Given the description of an element on the screen output the (x, y) to click on. 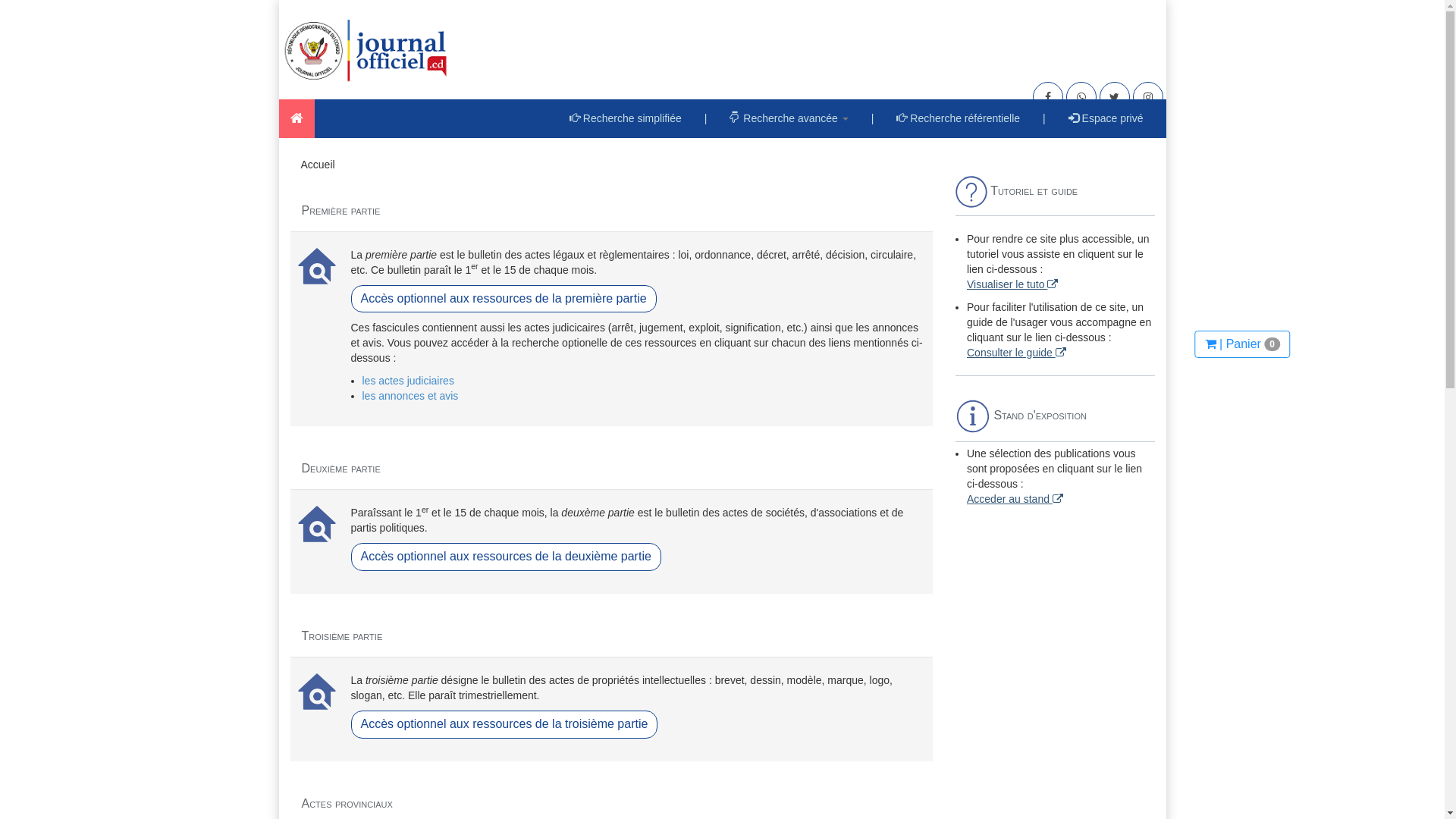
Dribbble Element type: text (1081, 96)
Jordc Element type: hover (296, 118)
| Element type: text (872, 118)
Consulter le guide Element type: text (1016, 352)
| Panier 0 Element type: text (1242, 344)
Instagram Element type: text (1147, 96)
les annonces et avis Element type: text (410, 395)
Acceder au stand Element type: text (1014, 498)
Visualiser le tuto Element type: text (1011, 284)
Facebook Element type: text (1047, 96)
| Element type: text (1044, 118)
les actes judiciaires Element type: text (408, 380)
| Element type: text (705, 118)
Twitter Element type: text (1114, 96)
